Given the description of an element on the screen output the (x, y) to click on. 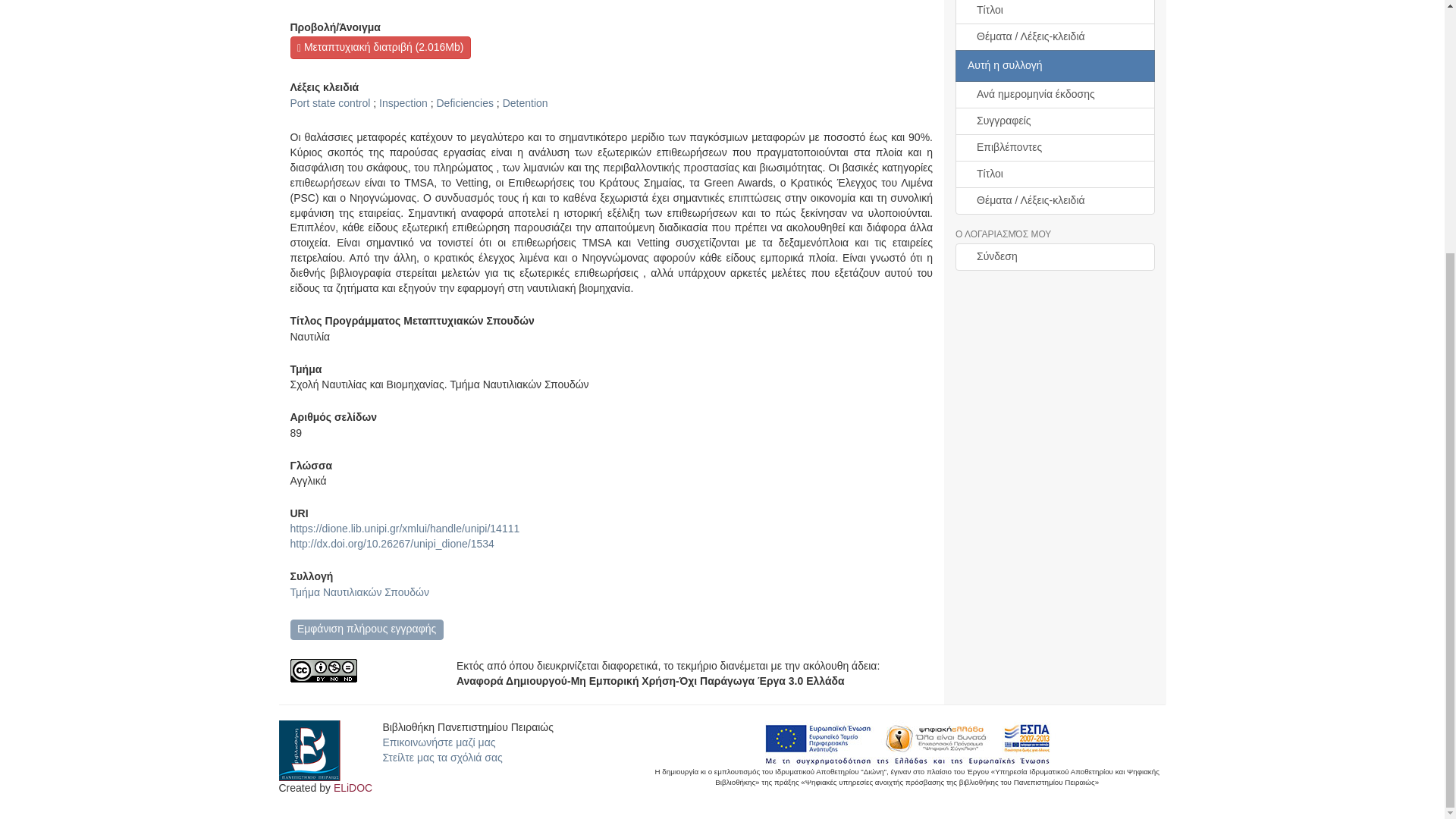
Deficiencies (464, 102)
Port state control (329, 102)
Detention (525, 102)
Inspection (403, 102)
